Given the description of an element on the screen output the (x, y) to click on. 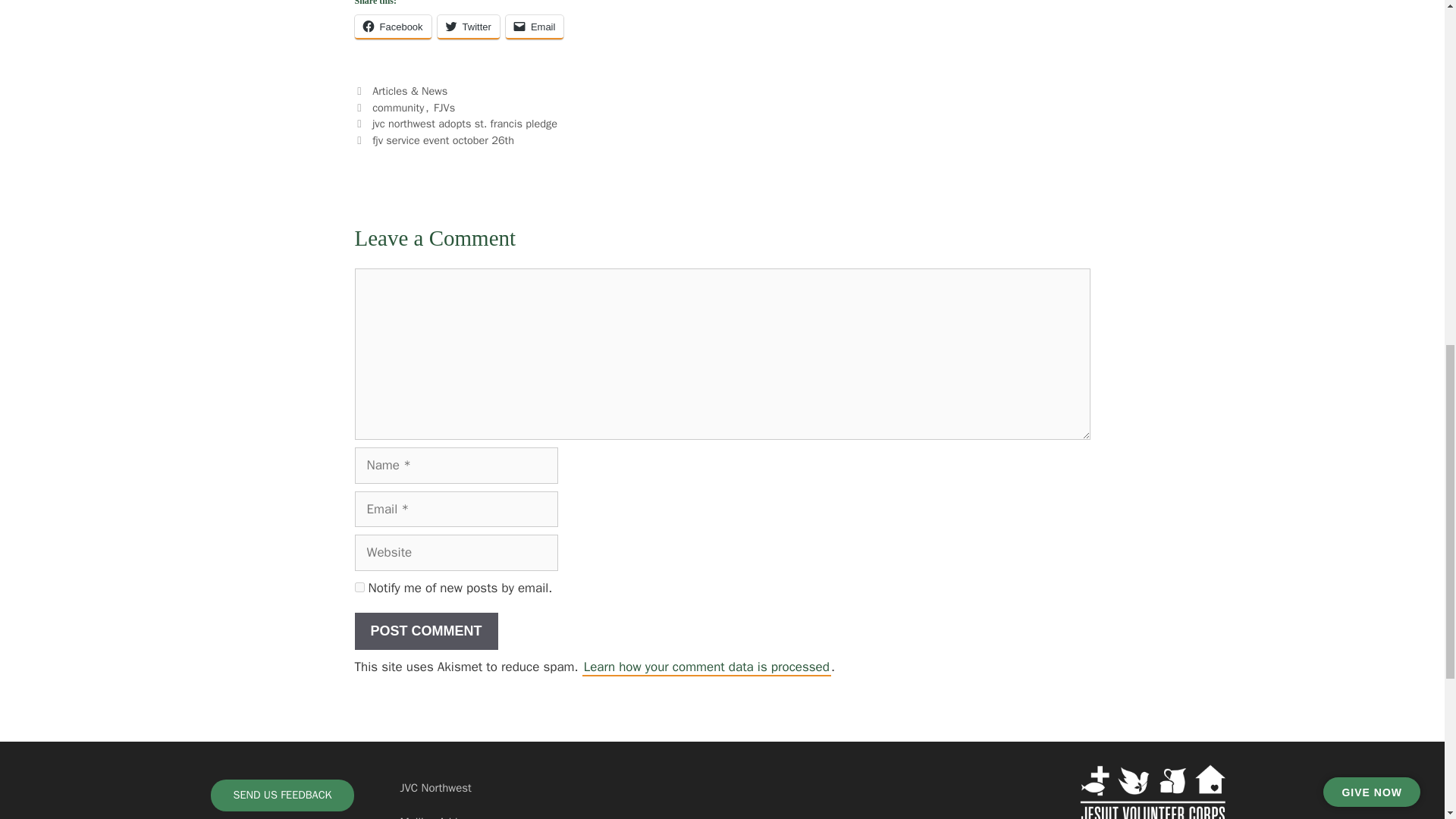
Post Comment (426, 631)
subscribe (360, 587)
Click to email a link to a friend (534, 27)
Click to share on Facebook (392, 27)
Click to share on Twitter (468, 27)
